Given the description of an element on the screen output the (x, y) to click on. 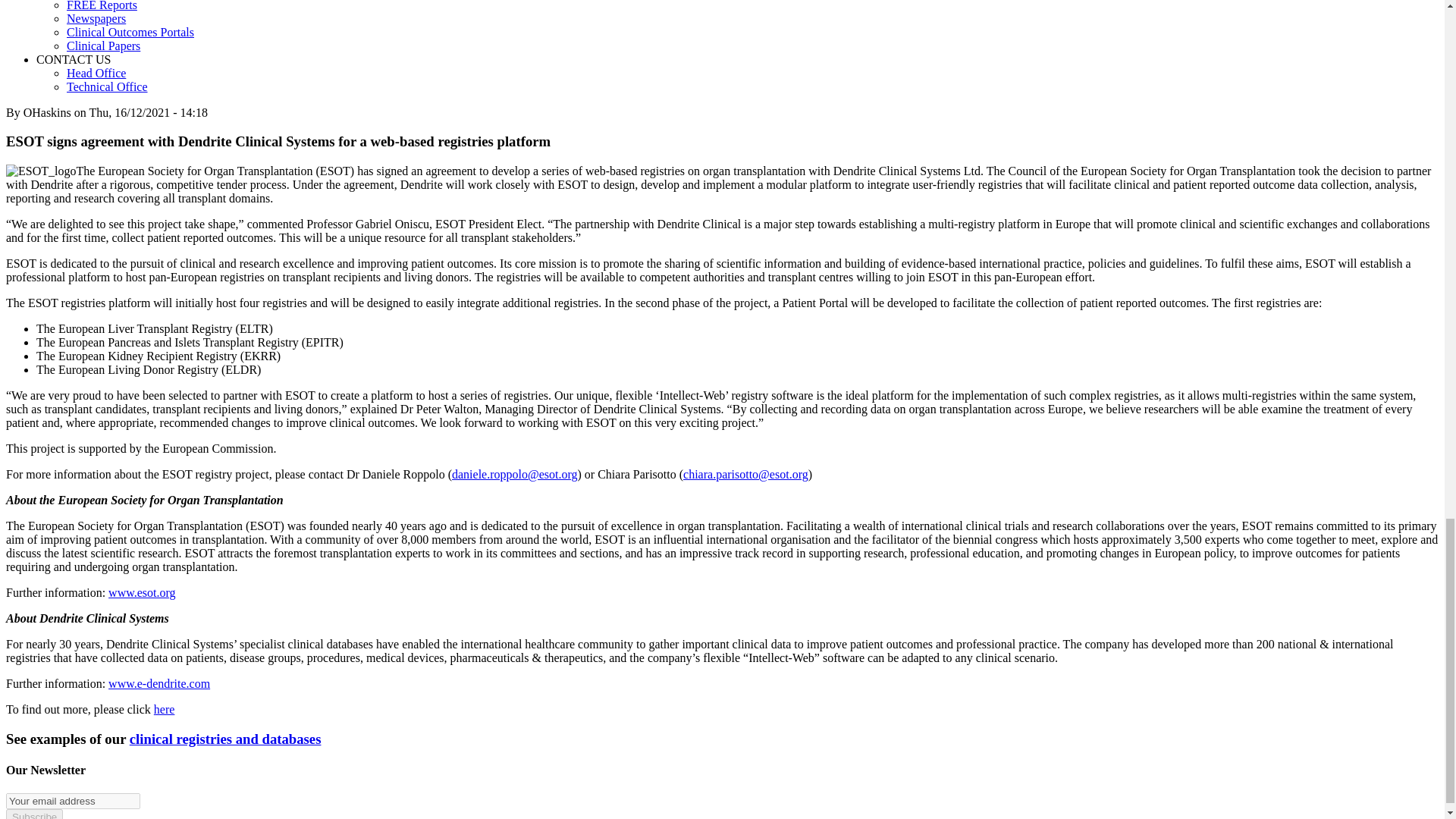
Free Report Downloads (101, 5)
Your email address (72, 801)
